Given the description of an element on the screen output the (x, y) to click on. 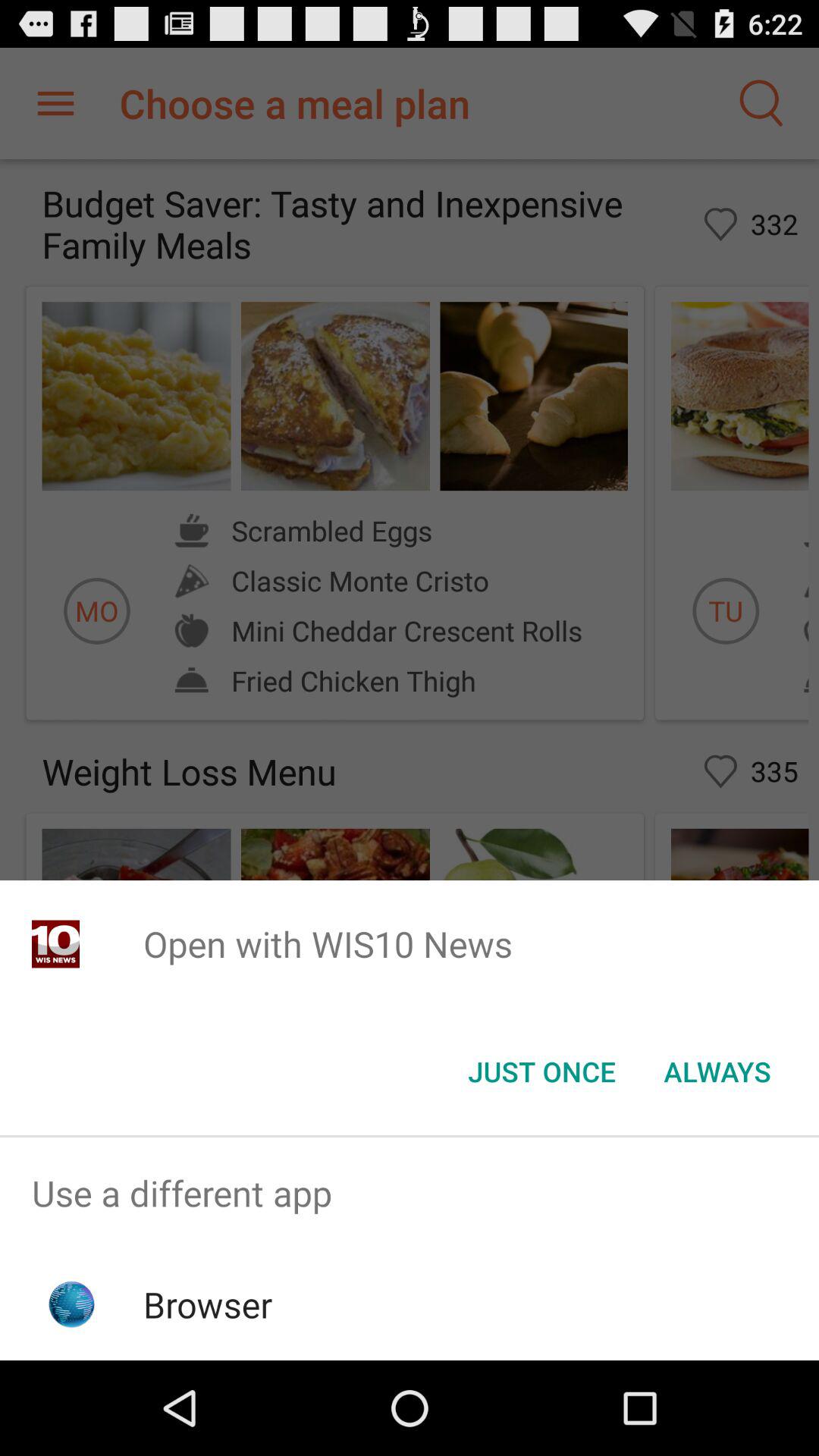
click item below open with wis10 app (717, 1071)
